Given the description of an element on the screen output the (x, y) to click on. 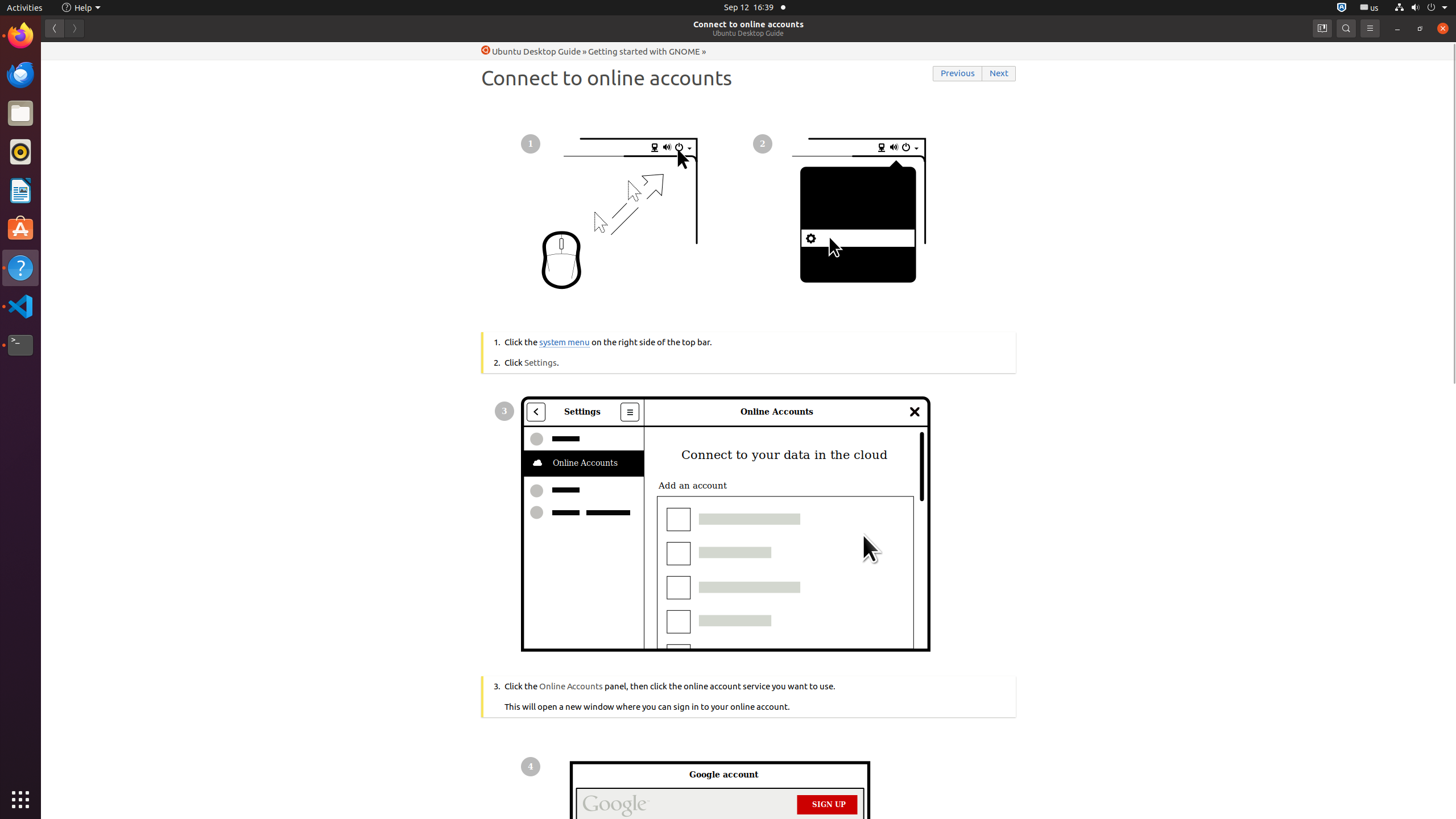
Ubuntu Desktop Guide Element type: label (748, 33)
Connect to online accounts Element type: label (748, 24)
Terminal Element type: push-button (20, 344)
